Given the description of an element on the screen output the (x, y) to click on. 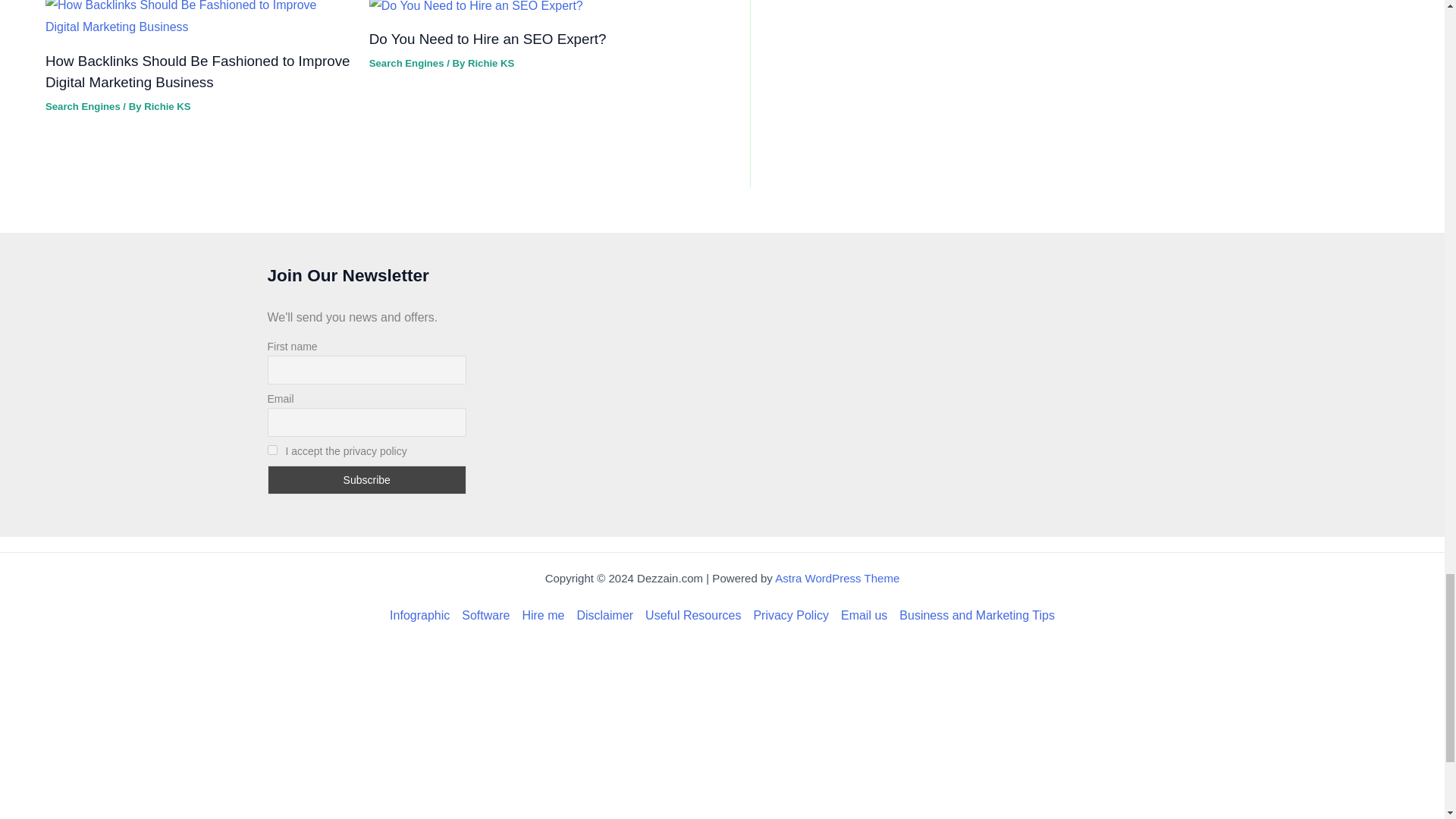
on (271, 450)
Subscribe (365, 480)
View all posts by Richie KS (167, 106)
Search Engines (82, 106)
View all posts by Richie KS (490, 62)
Richie KS (167, 106)
